Given the description of an element on the screen output the (x, y) to click on. 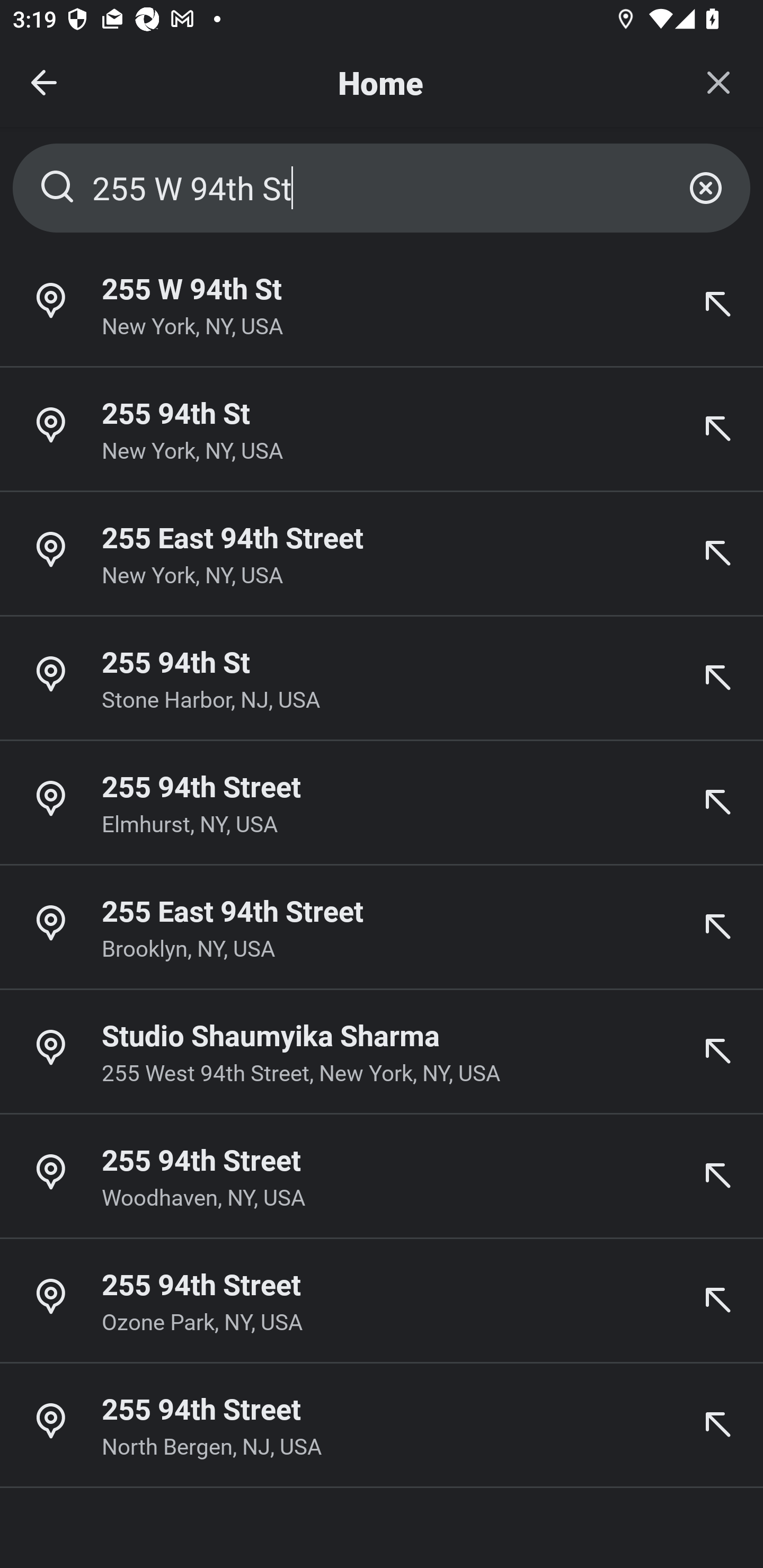
255 W 94th St (381, 188)
